Given the description of an element on the screen output the (x, y) to click on. 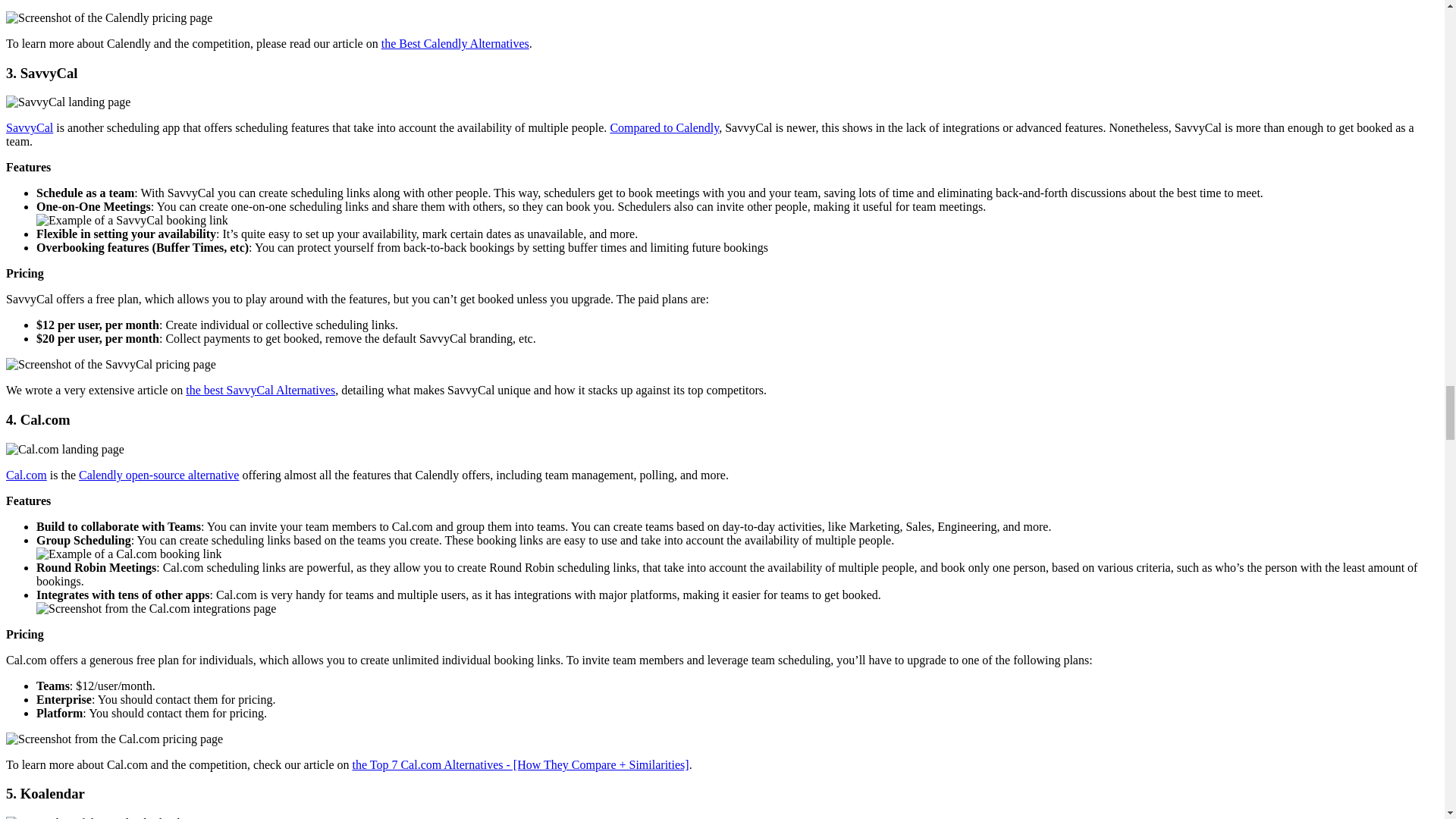
the Best Calendly Alternatives (455, 42)
Calendly open-source alternative (158, 474)
Compared to Calendly (664, 127)
Cal.com (25, 474)
the best SavvyCal Alternatives (260, 390)
SavvyCal (28, 127)
